Given the description of an element on the screen output the (x, y) to click on. 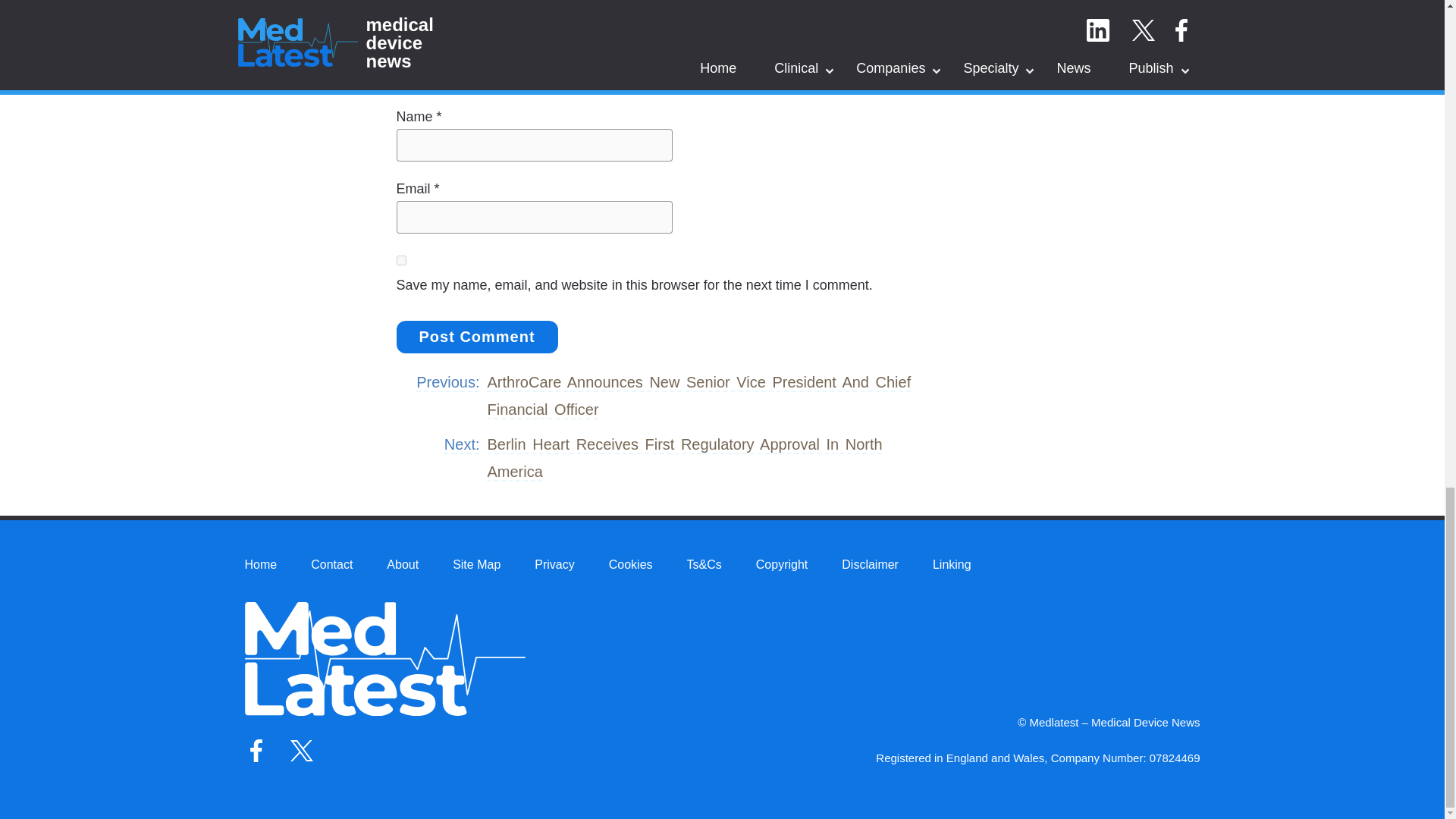
yes (401, 260)
Post Comment (476, 336)
Post Comment (476, 336)
